Given the description of an element on the screen output the (x, y) to click on. 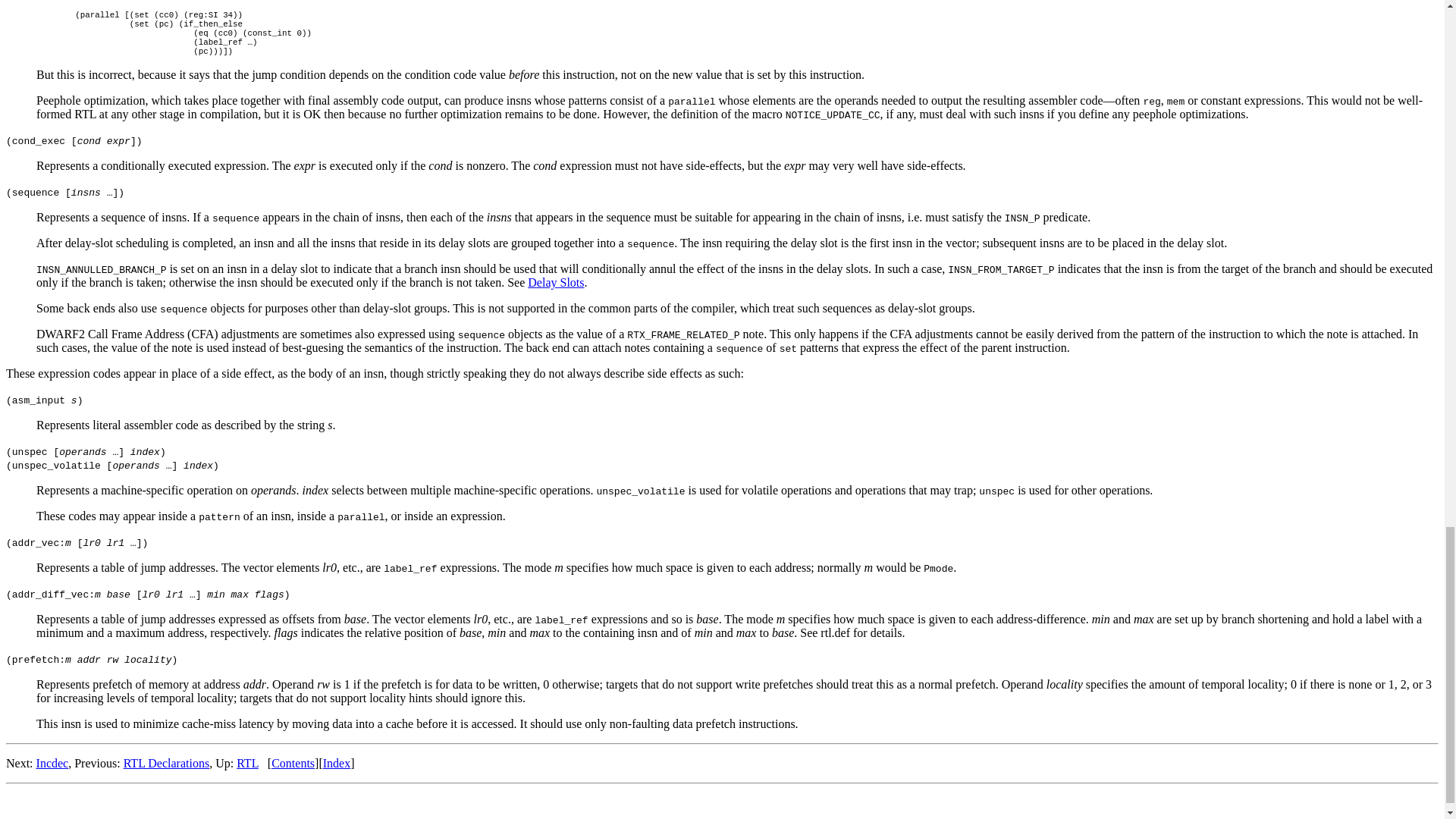
Index (336, 762)
RTL Declarations (166, 762)
Table of contents (292, 762)
Delay Slots (555, 282)
Index (336, 762)
RTL (247, 762)
Incdec (52, 762)
Contents (292, 762)
